Given the description of an element on the screen output the (x, y) to click on. 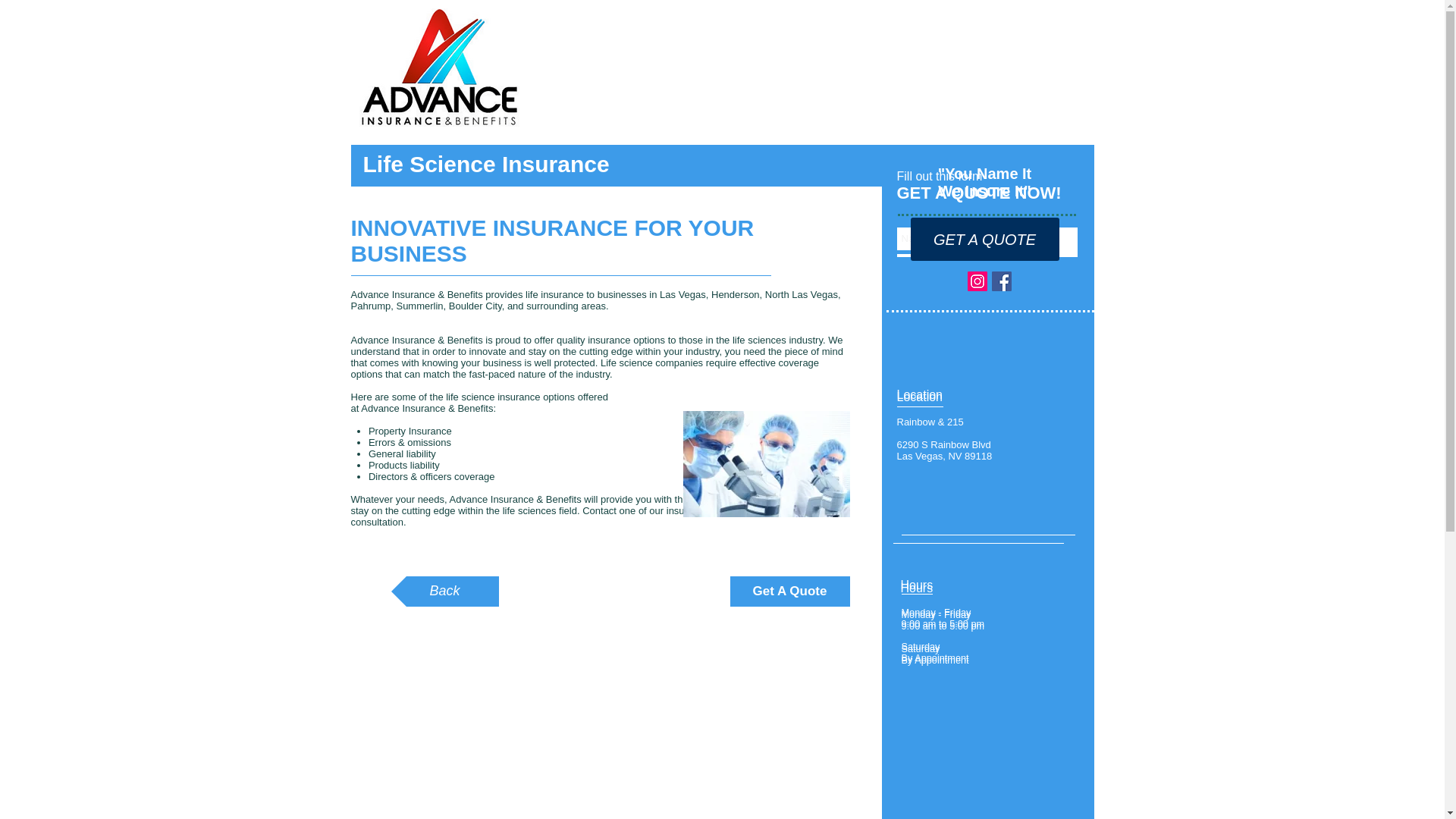
Send (1063, 318)
Back (445, 591)
Get A Quote (788, 591)
GET A QUOTE (984, 239)
